Given the description of an element on the screen output the (x, y) to click on. 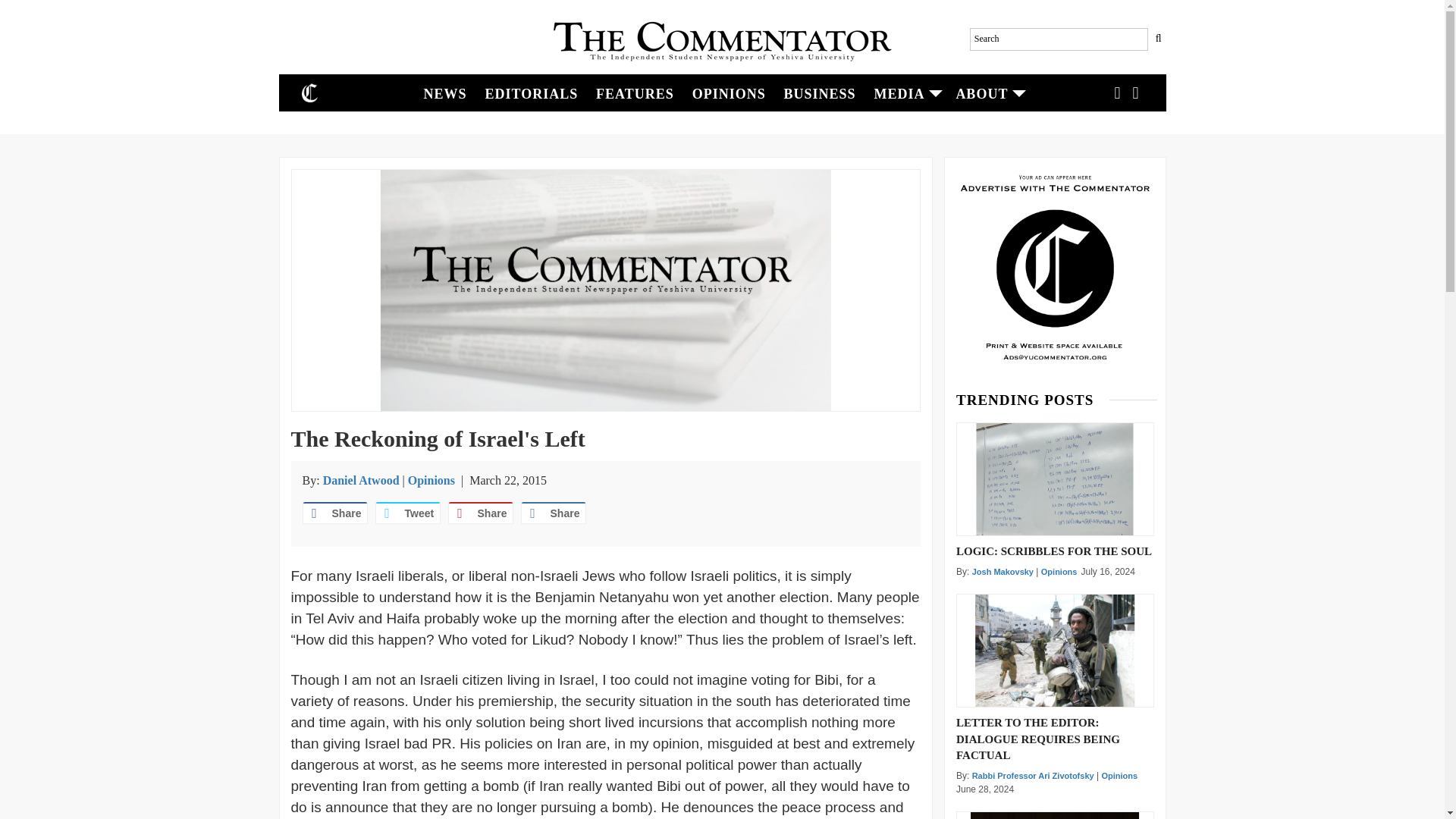
Share on LinkedIn (552, 513)
Share (333, 513)
Rabbi Professor Ari Zivotofsky (1033, 775)
Opinions (430, 480)
Share on Facebook (333, 513)
LETTER TO THE EDITOR: DIALOGUE REQUIRES BEING FACTUAL (1055, 737)
FEATURES (634, 92)
Opinions (1118, 775)
BUSINESS (819, 92)
ABOUT (987, 92)
MEDIA (905, 92)
Opinions (1059, 571)
Share (479, 513)
NEWS (445, 92)
Tweet (406, 513)
